Given the description of an element on the screen output the (x, y) to click on. 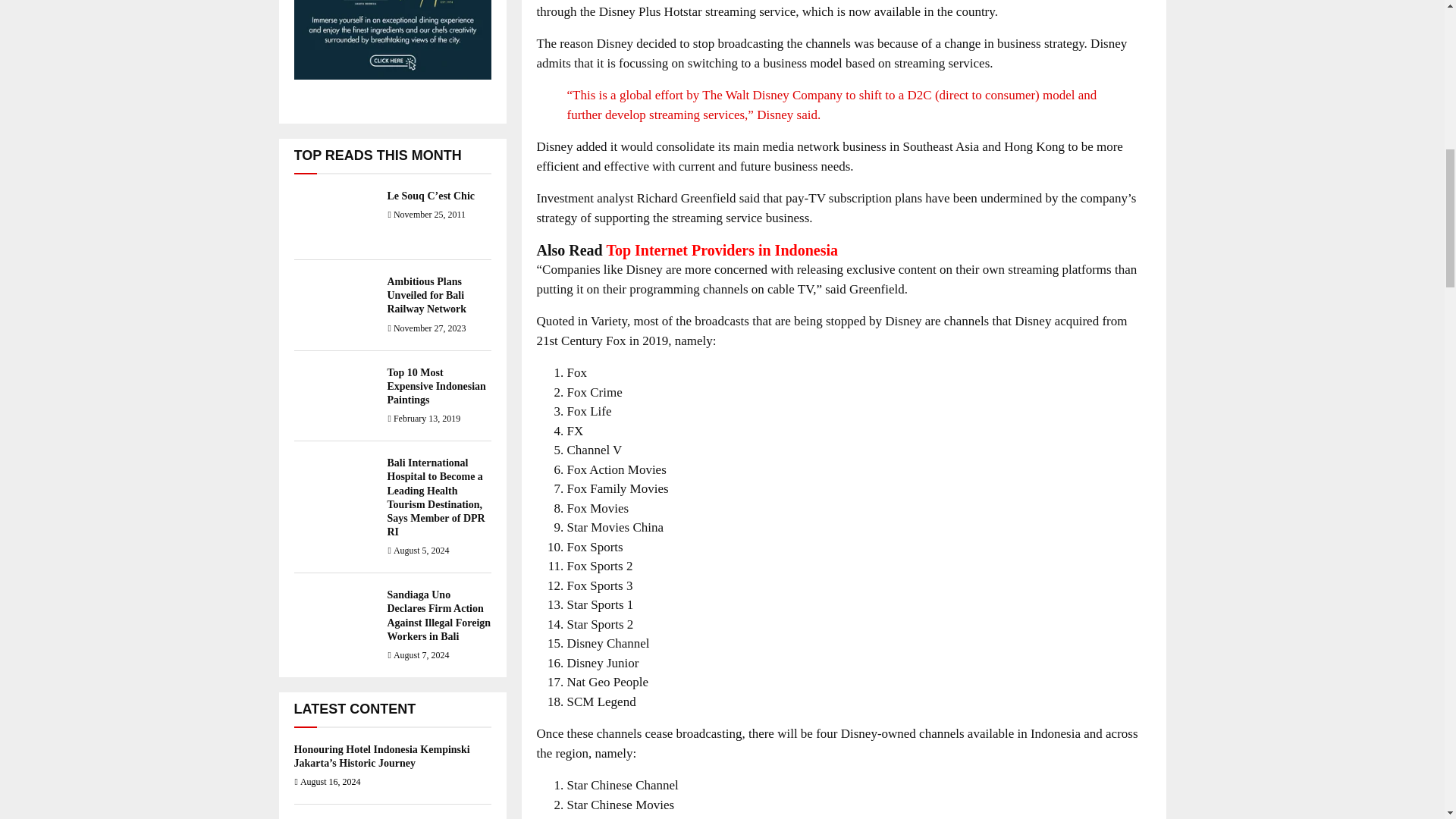
 Top 10 Most Expensive Indonesian Paintings  (435, 385)
 Ambitious Plans Unveiled for Bali Railway Network  (426, 295)
